Given the description of an element on the screen output the (x, y) to click on. 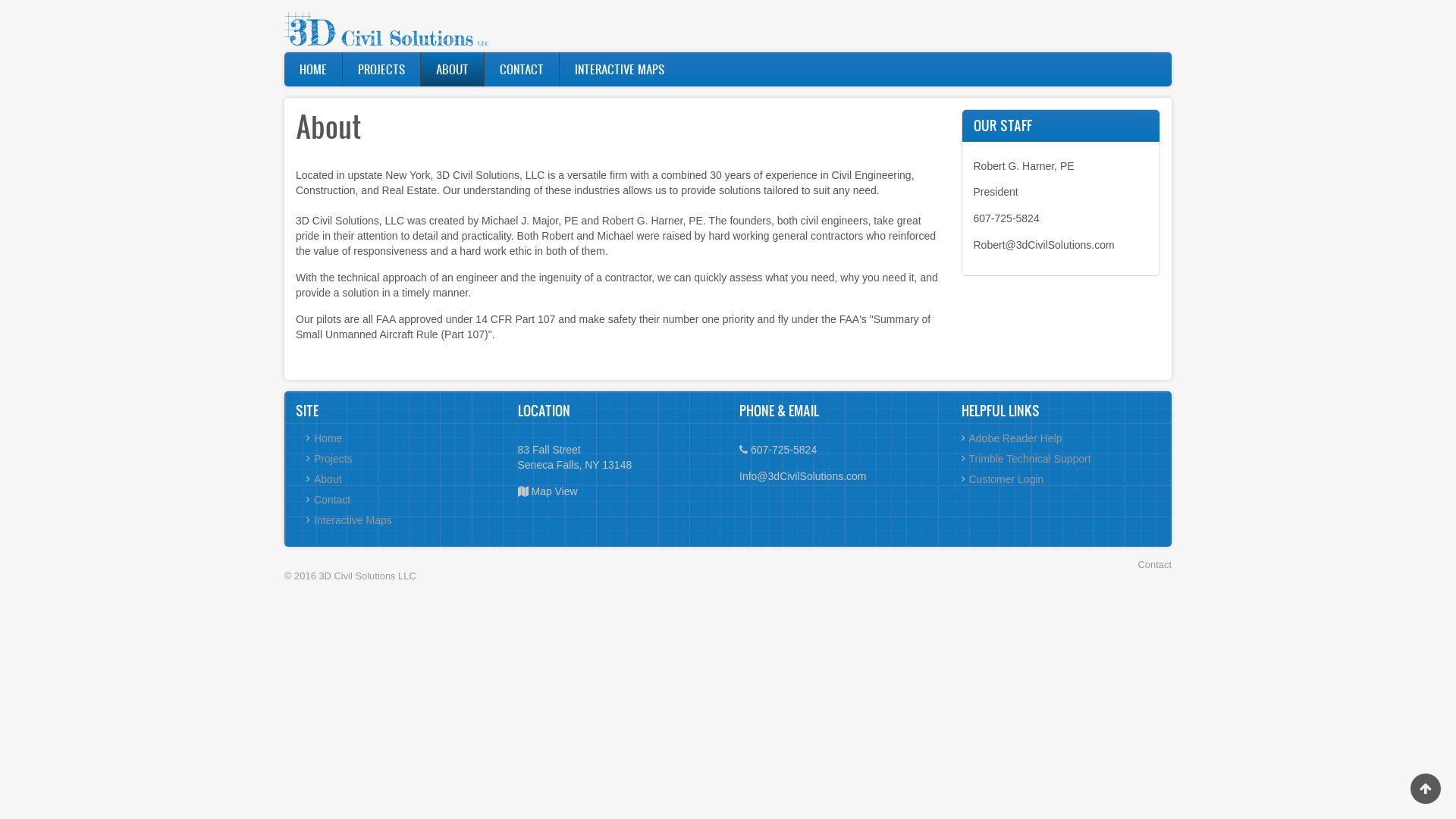
PROJECTS Element type: text (381, 69)
Map View Element type: text (553, 491)
Contact Element type: text (1154, 564)
Robert@3dCivilSolutions.com Element type: text (1043, 244)
Contact Element type: text (331, 499)
Summary of Small Unmanned Aircraft Rule (Part 107) Element type: text (612, 326)
Interactive Maps Element type: text (352, 520)
Home Element type: hover (386, 25)
607-725-5824 Element type: text (1006, 218)
ABOUT Element type: text (451, 69)
Home Element type: text (327, 438)
Back to Top Element type: hover (1425, 788)
Skip to main content Element type: text (0, 0)
Trimble Technical Support Element type: text (1030, 458)
INTERACTIVE MAPS Element type: text (619, 69)
Customer Login Element type: text (1006, 479)
CONTACT Element type: text (521, 69)
Info@3dCivilSolutions.com Element type: text (802, 476)
607-725-5824 Element type: text (783, 449)
About Element type: text (327, 479)
Adobe Reader Help Element type: text (1015, 438)
HOME Element type: text (313, 69)
Projects Element type: text (332, 458)
